Given the description of an element on the screen output the (x, y) to click on. 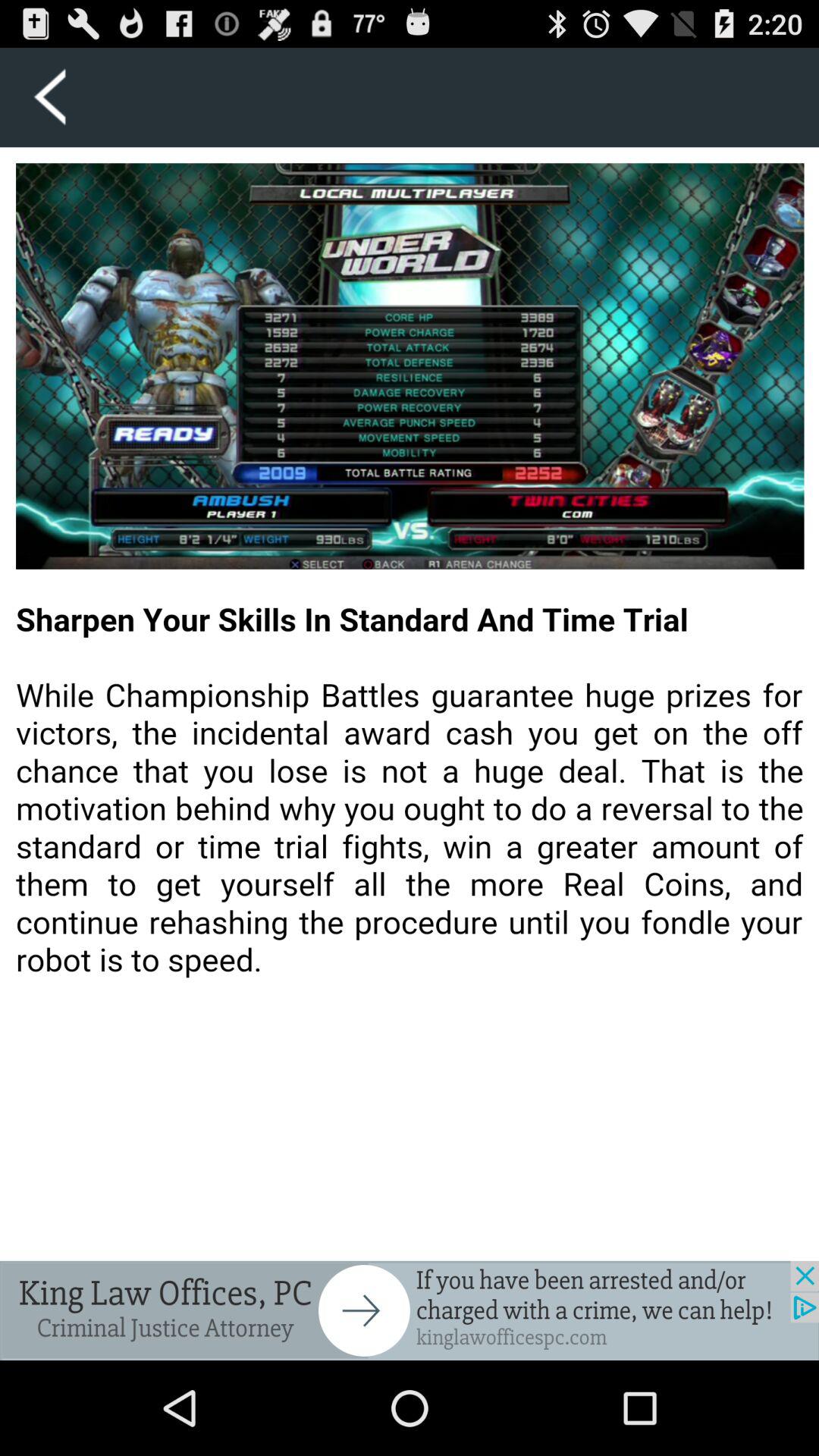
go back (49, 97)
